Given the description of an element on the screen output the (x, y) to click on. 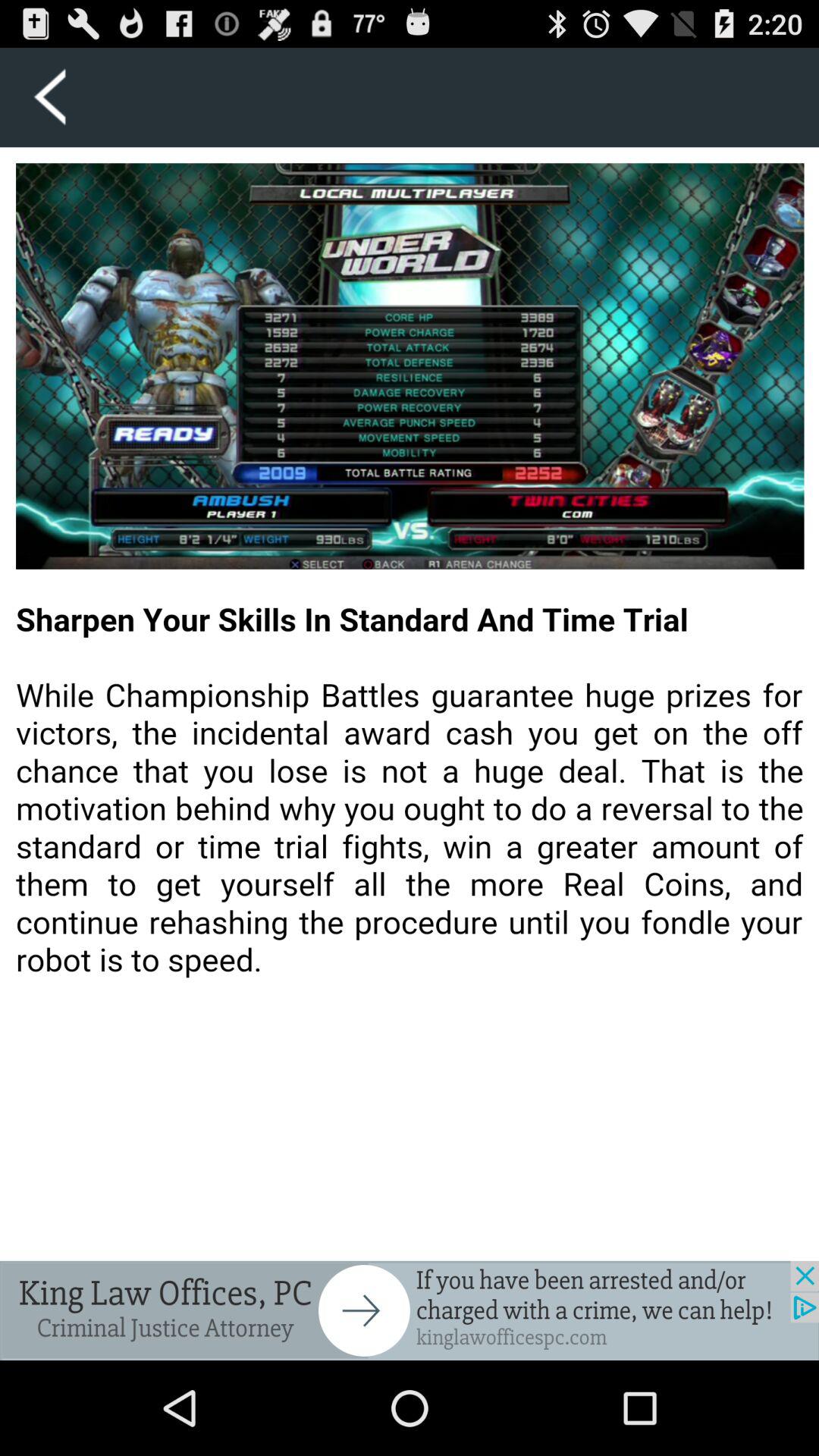
go back (49, 97)
